Given the description of an element on the screen output the (x, y) to click on. 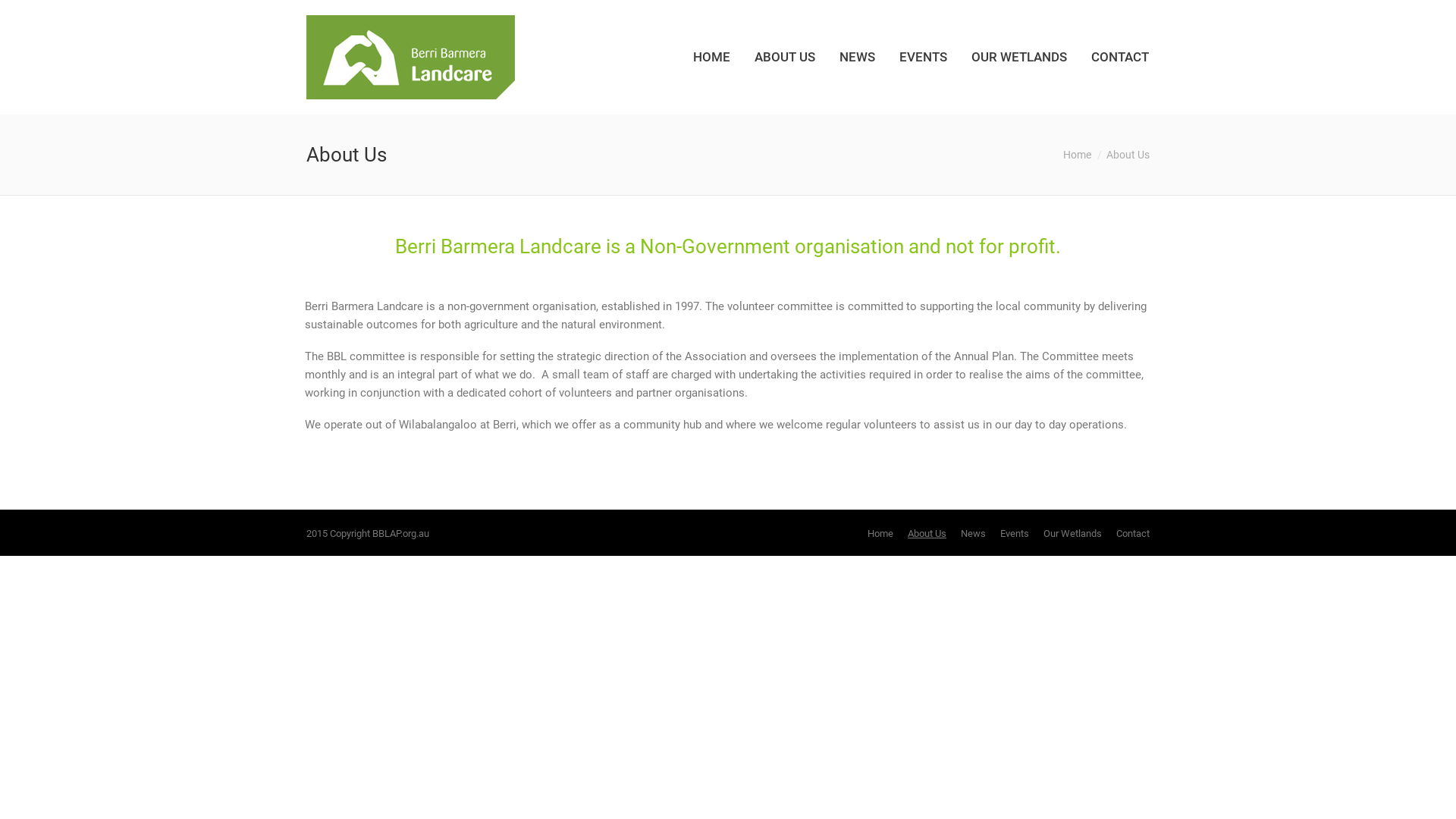
About Us Element type: text (926, 533)
Contact Element type: text (1132, 533)
Events Element type: text (1014, 533)
NEWS Element type: text (856, 57)
News Element type: text (972, 533)
ABOUT US Element type: text (784, 57)
CONTACT Element type: text (1119, 57)
Home Element type: text (1077, 154)
Our Wetlands Element type: text (1072, 533)
HOME Element type: text (711, 57)
EVENTS Element type: text (922, 57)
Home Element type: text (880, 533)
OUR WETLANDS Element type: text (1018, 57)
